Given the description of an element on the screen output the (x, y) to click on. 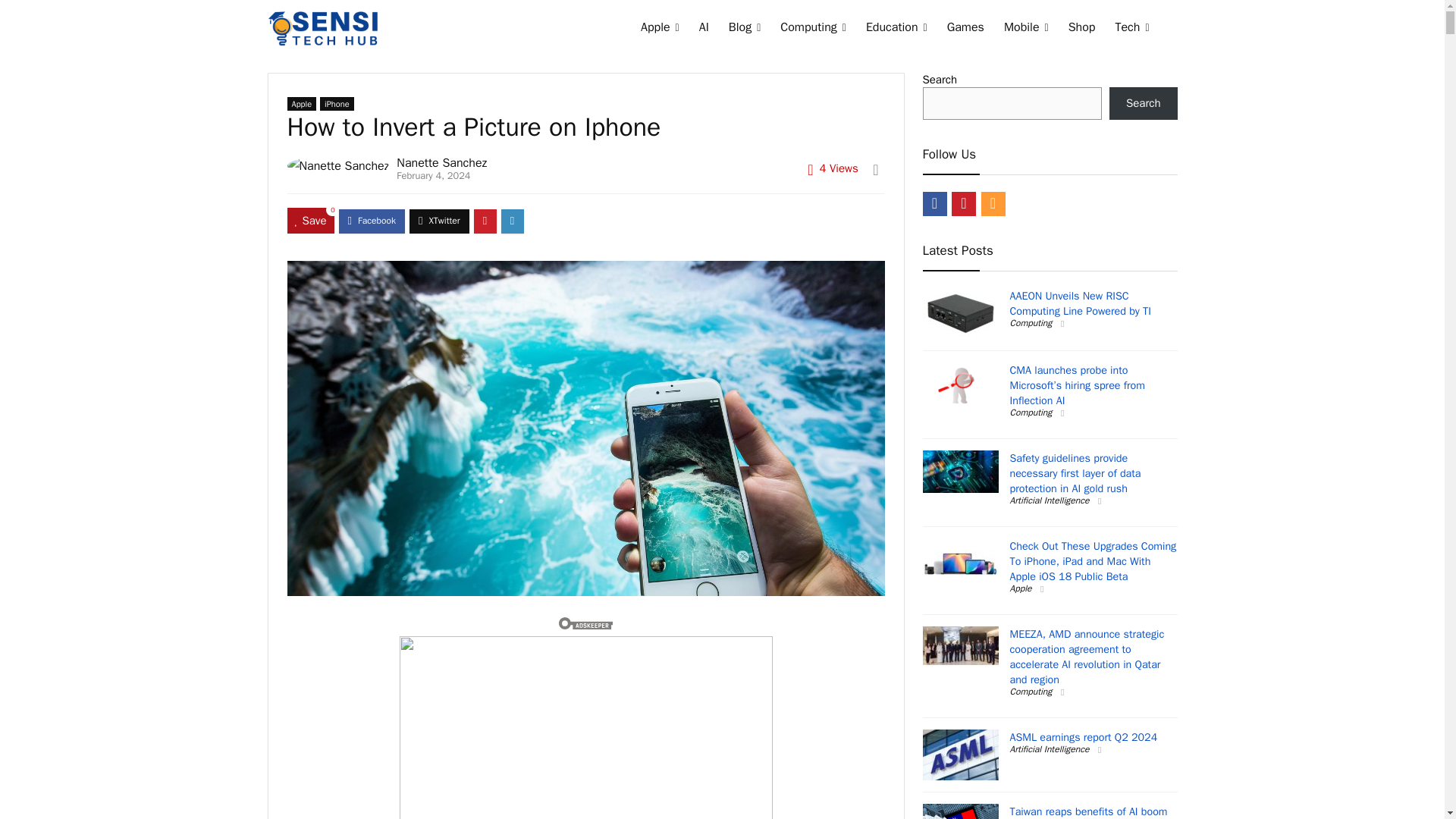
Pinterest (963, 203)
View all posts in Apple (300, 103)
Apple (300, 103)
RSS (993, 203)
Games (965, 28)
AI (703, 28)
Computing (813, 28)
Facebook (933, 203)
Apple (659, 28)
Tech (1131, 28)
View all posts in iPhone (336, 103)
Mobile (1026, 28)
iPhone (336, 103)
Shop (1081, 28)
